Given the description of an element on the screen output the (x, y) to click on. 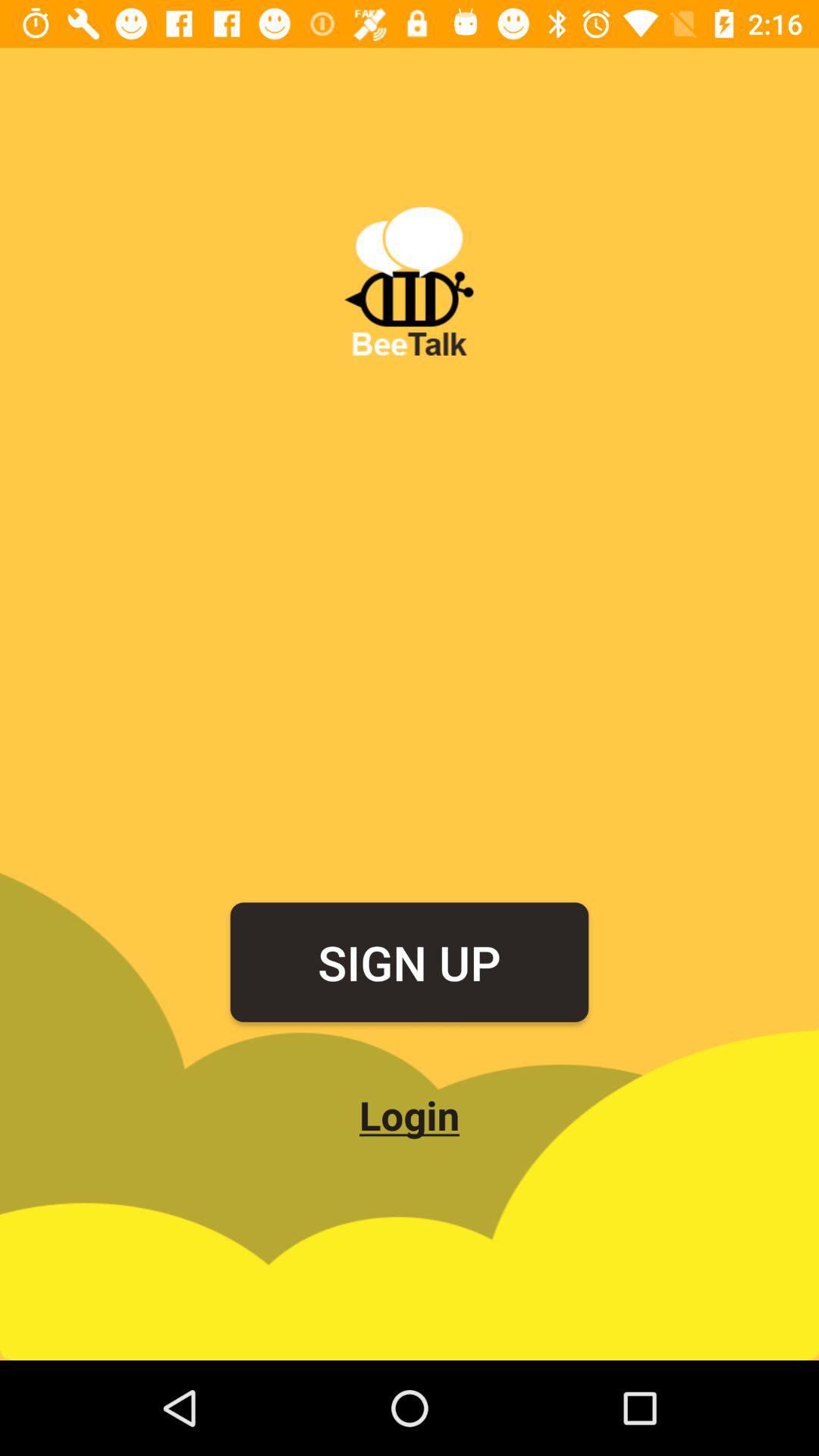
jump until the sign up item (409, 962)
